Given the description of an element on the screen output the (x, y) to click on. 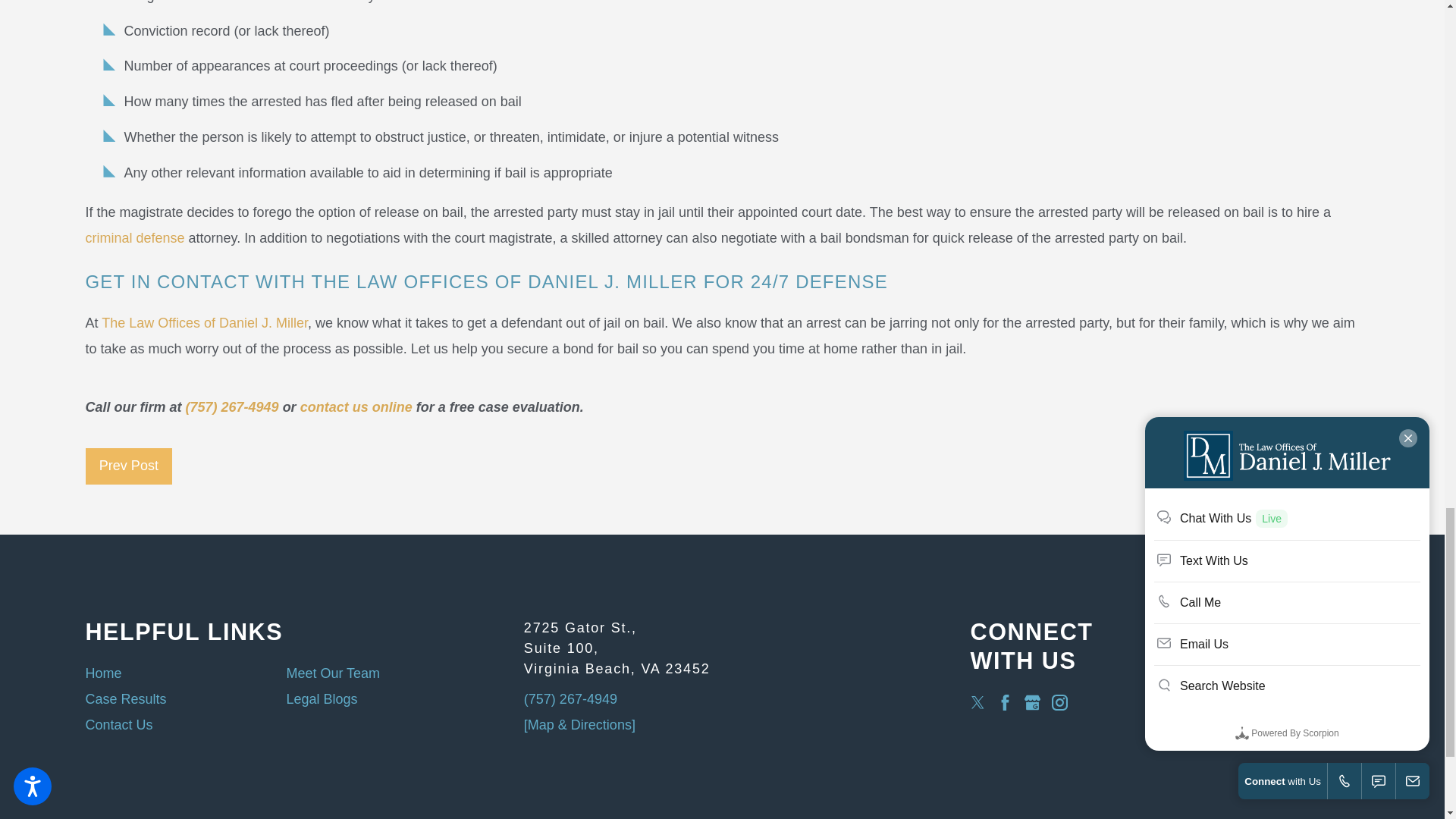
Facebook (1005, 702)
Twitter (977, 702)
Instagram (1059, 702)
Google Business Profile (1033, 702)
